Given the description of an element on the screen output the (x, y) to click on. 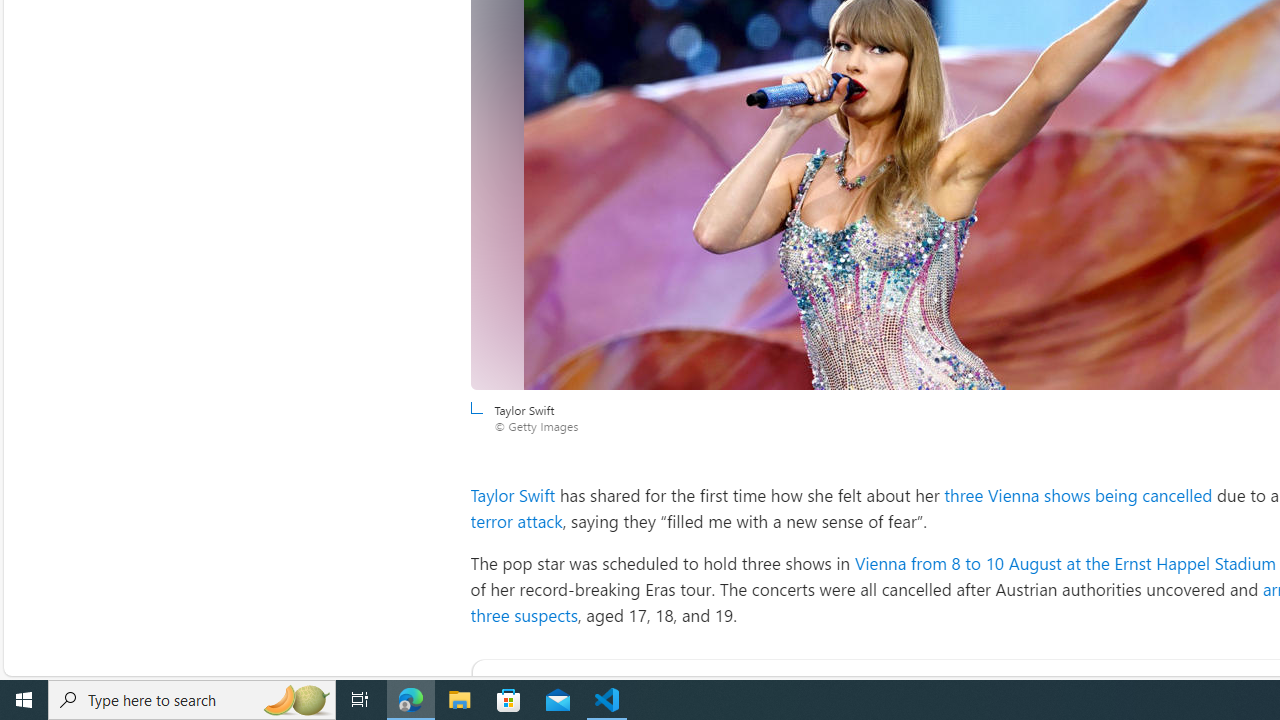
Vienna from 8 to 10 August at the Ernst Happel Stadium (1064, 562)
three Vienna shows being cancelled (1078, 494)
Taylor Swift  (514, 494)
